Given the description of an element on the screen output the (x, y) to click on. 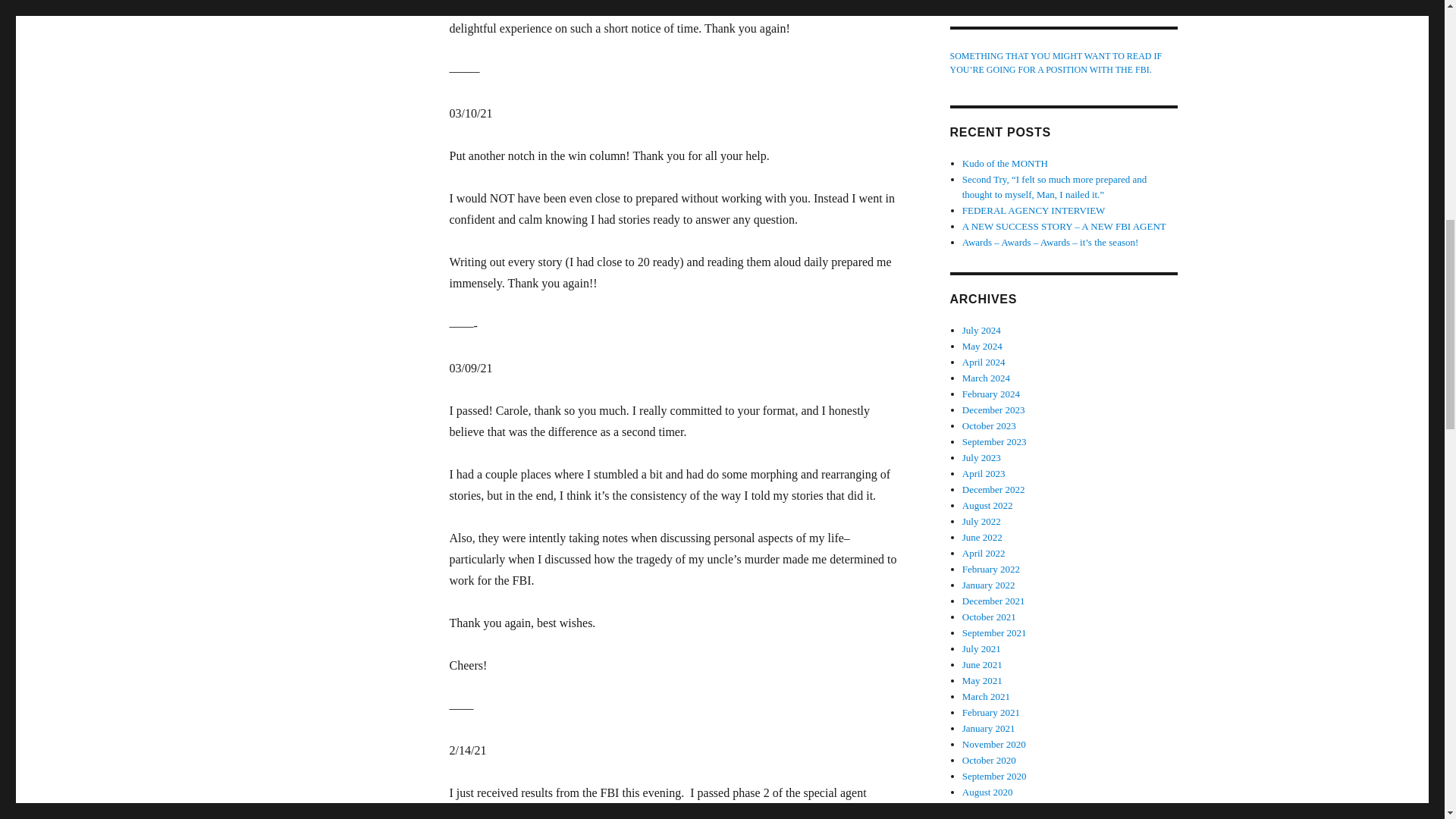
July 2023 (981, 457)
April 2023 (984, 473)
March 2024 (986, 378)
August 2022 (987, 505)
July 2022 (981, 521)
Kudo of the MONTH (1005, 163)
July 2024 (981, 329)
September 2023 (994, 441)
April 2024 (984, 361)
December 2022 (993, 489)
May 2024 (982, 346)
FEDERAL AGENCY INTERVIEW (1033, 210)
December 2023 (993, 409)
October 2023 (989, 425)
February 2024 (991, 393)
